Given the description of an element on the screen output the (x, y) to click on. 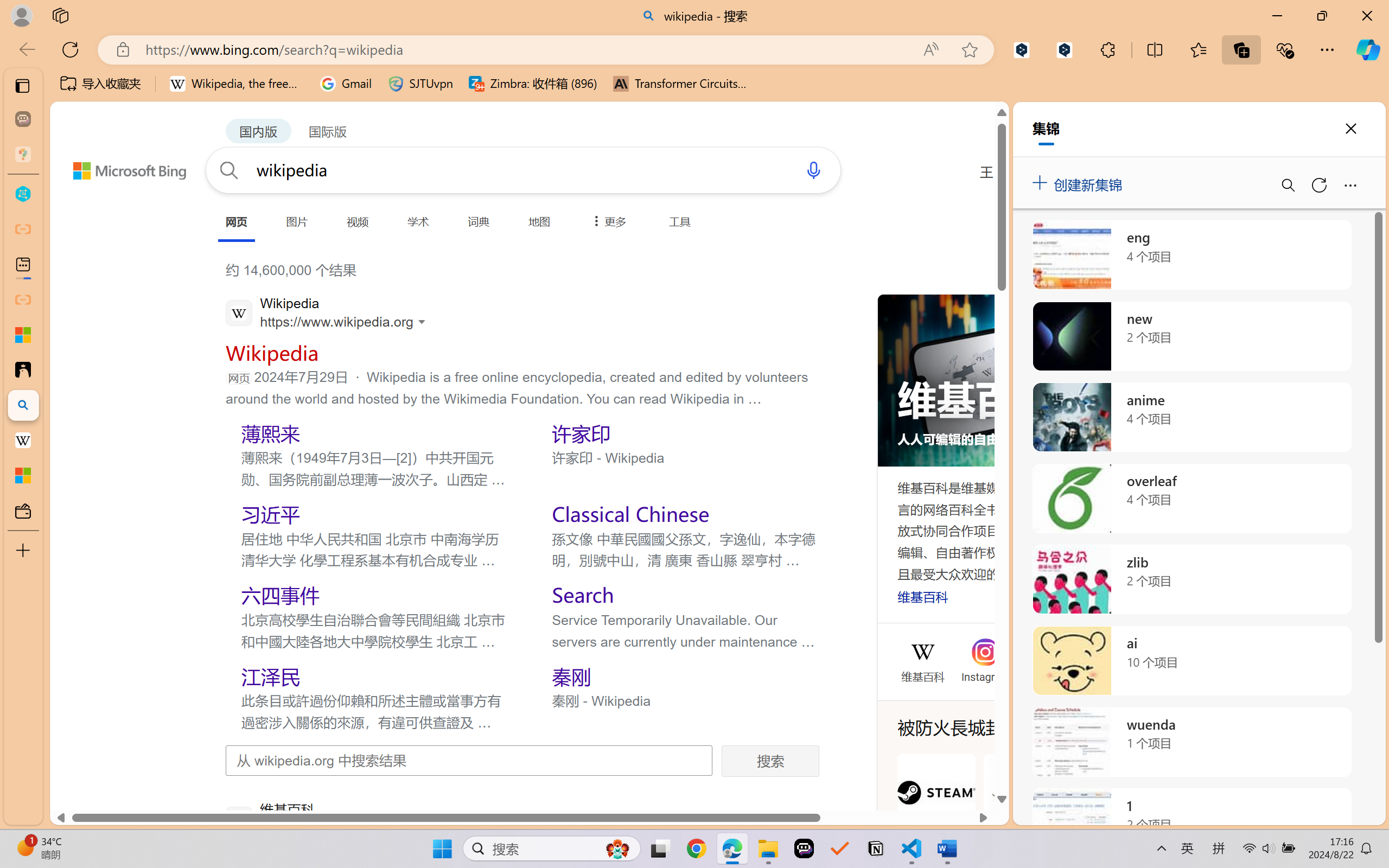
SJTUvpn (419, 83)
